Given the description of an element on the screen output the (x, y) to click on. 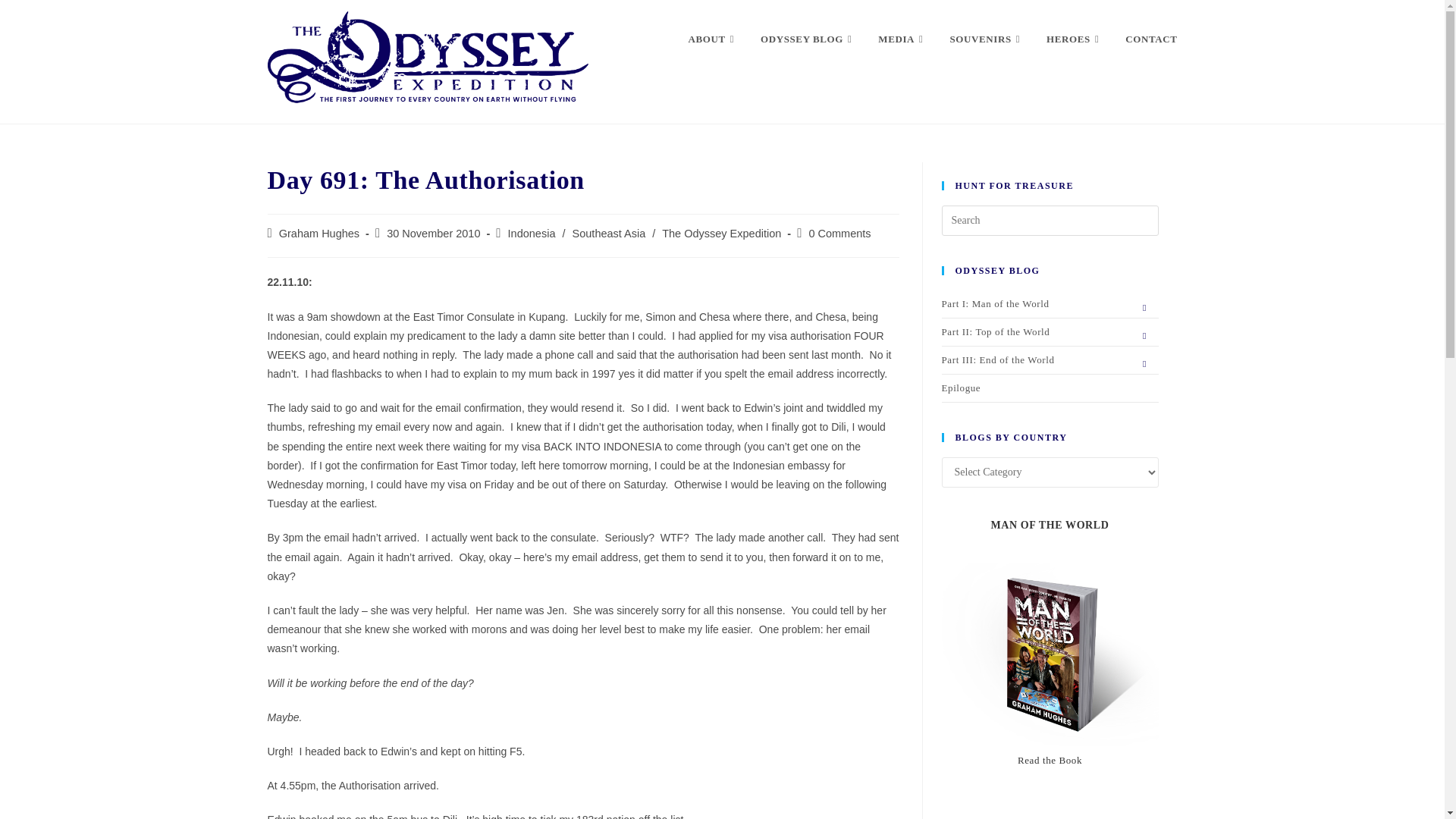
ODYSSEY BLOG (807, 39)
ABOUT (713, 39)
Posts by Graham Hughes (319, 233)
MEDIA (901, 39)
